Given the description of an element on the screen output the (x, y) to click on. 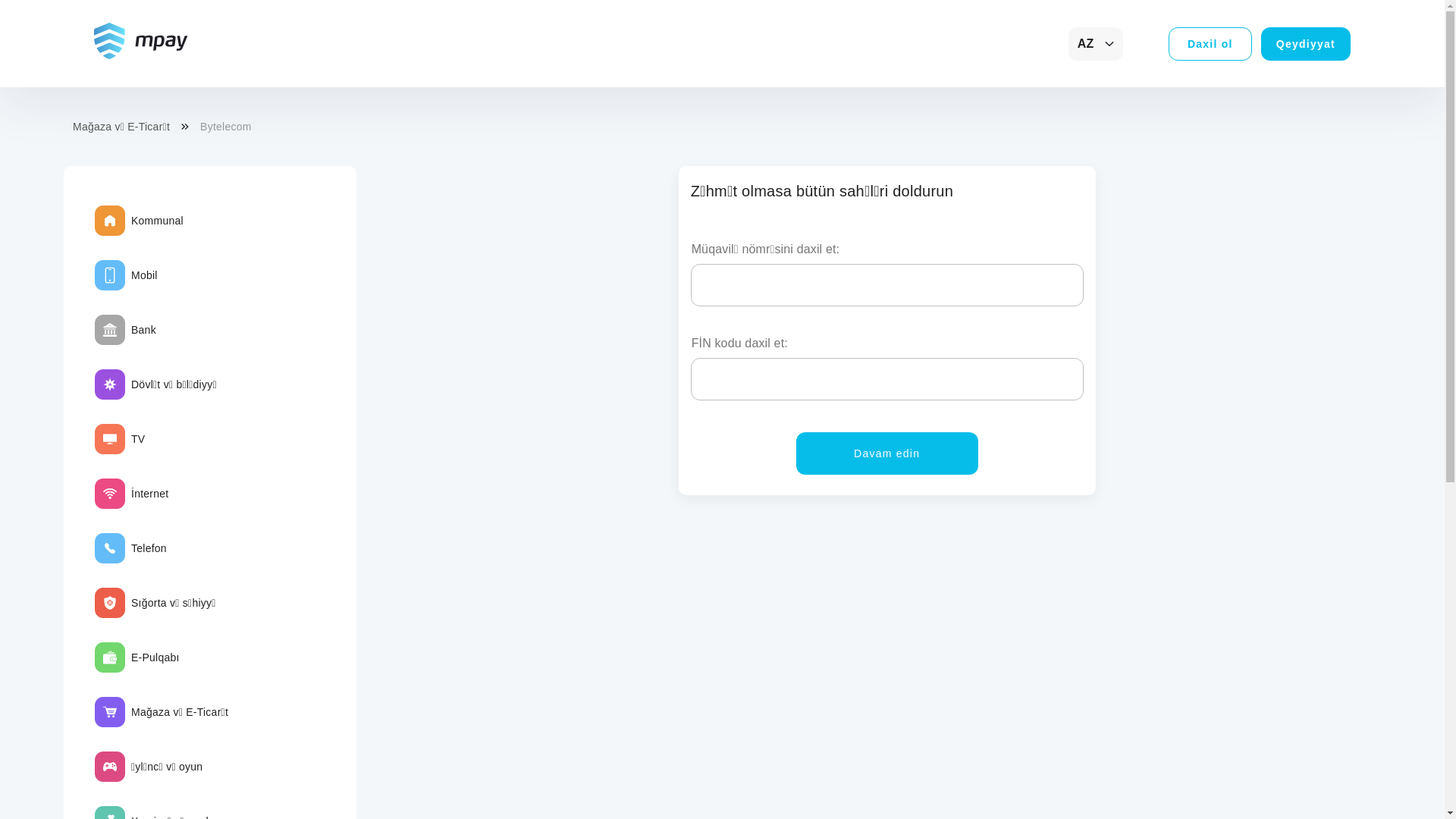
Mobil Element type: text (209, 275)
Daxil ol Element type: text (1210, 43)
Kommunal Element type: text (209, 220)
Qeydiyyat Element type: text (1305, 43)
Bank Element type: text (209, 329)
Bytelecom Element type: text (225, 126)
Davam edin Element type: text (887, 453)
TV Element type: text (209, 438)
Telefon Element type: text (209, 548)
